Given the description of an element on the screen output the (x, y) to click on. 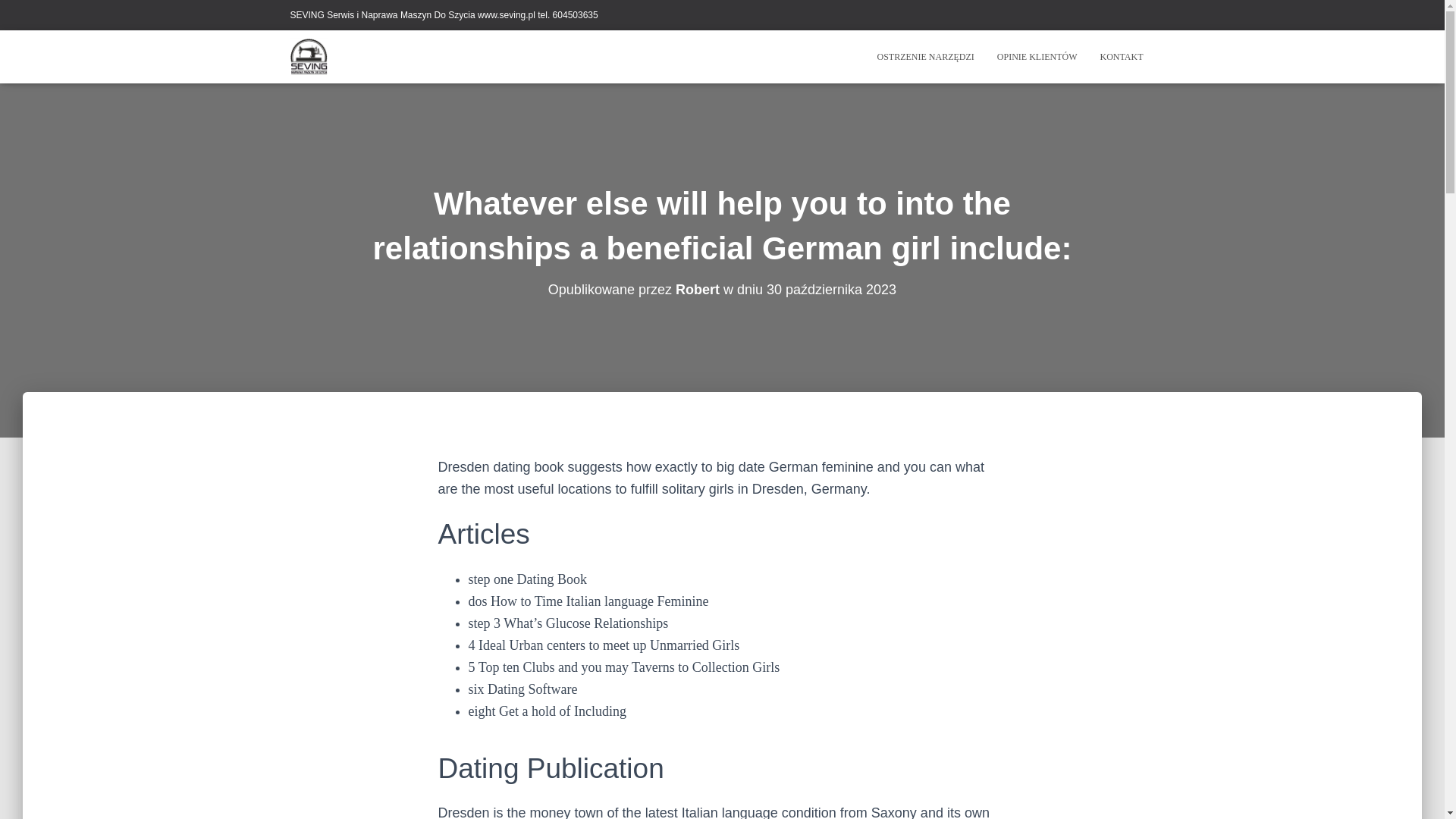
Kontakt (1120, 56)
Robert (697, 289)
KONTAKT (1120, 56)
SEVING  Naprawa i Serwis  Maszyn Do Szycia (309, 56)
